Given the description of an element on the screen output the (x, y) to click on. 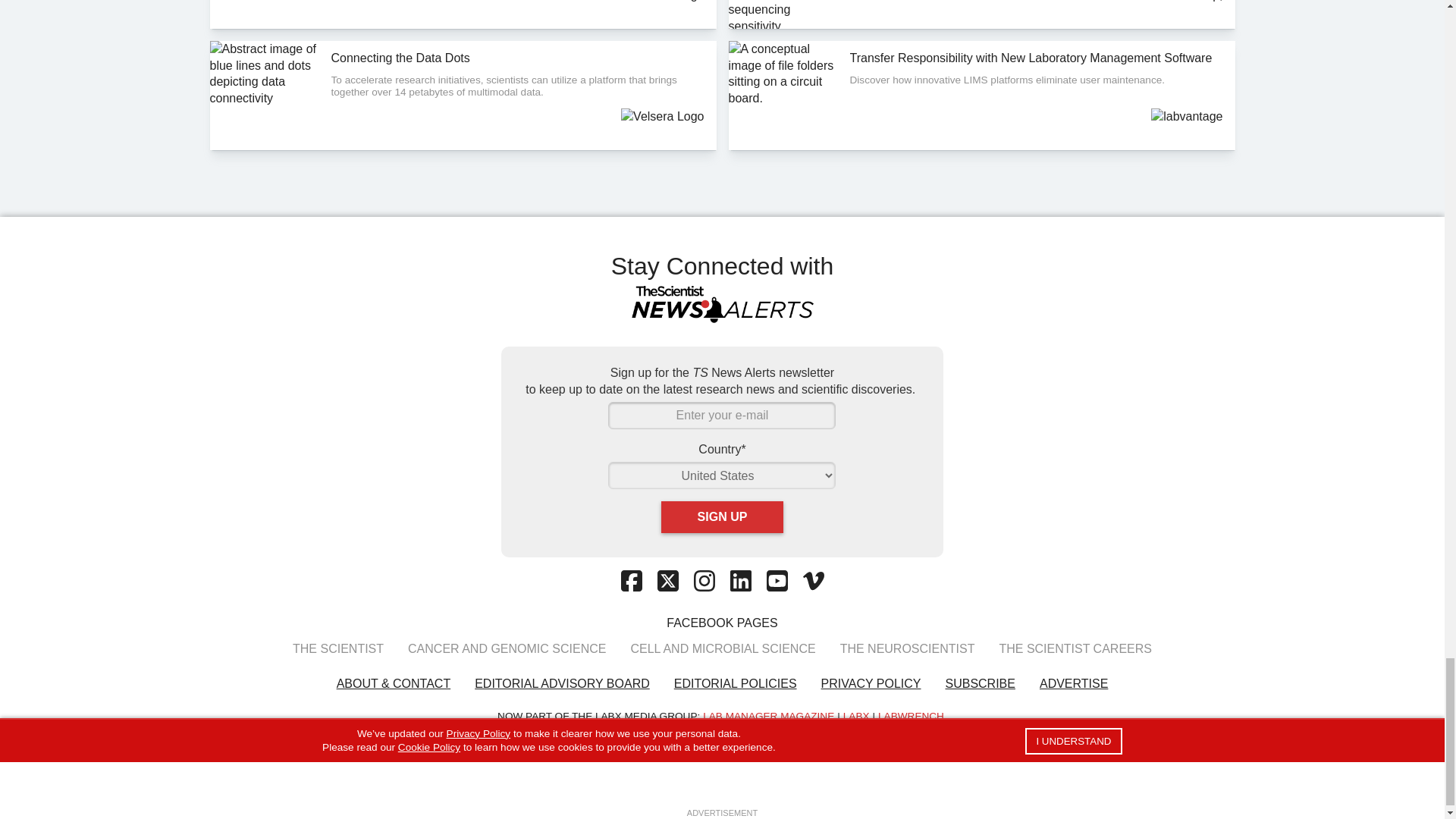
Sign Up (722, 517)
